Given the description of an element on the screen output the (x, y) to click on. 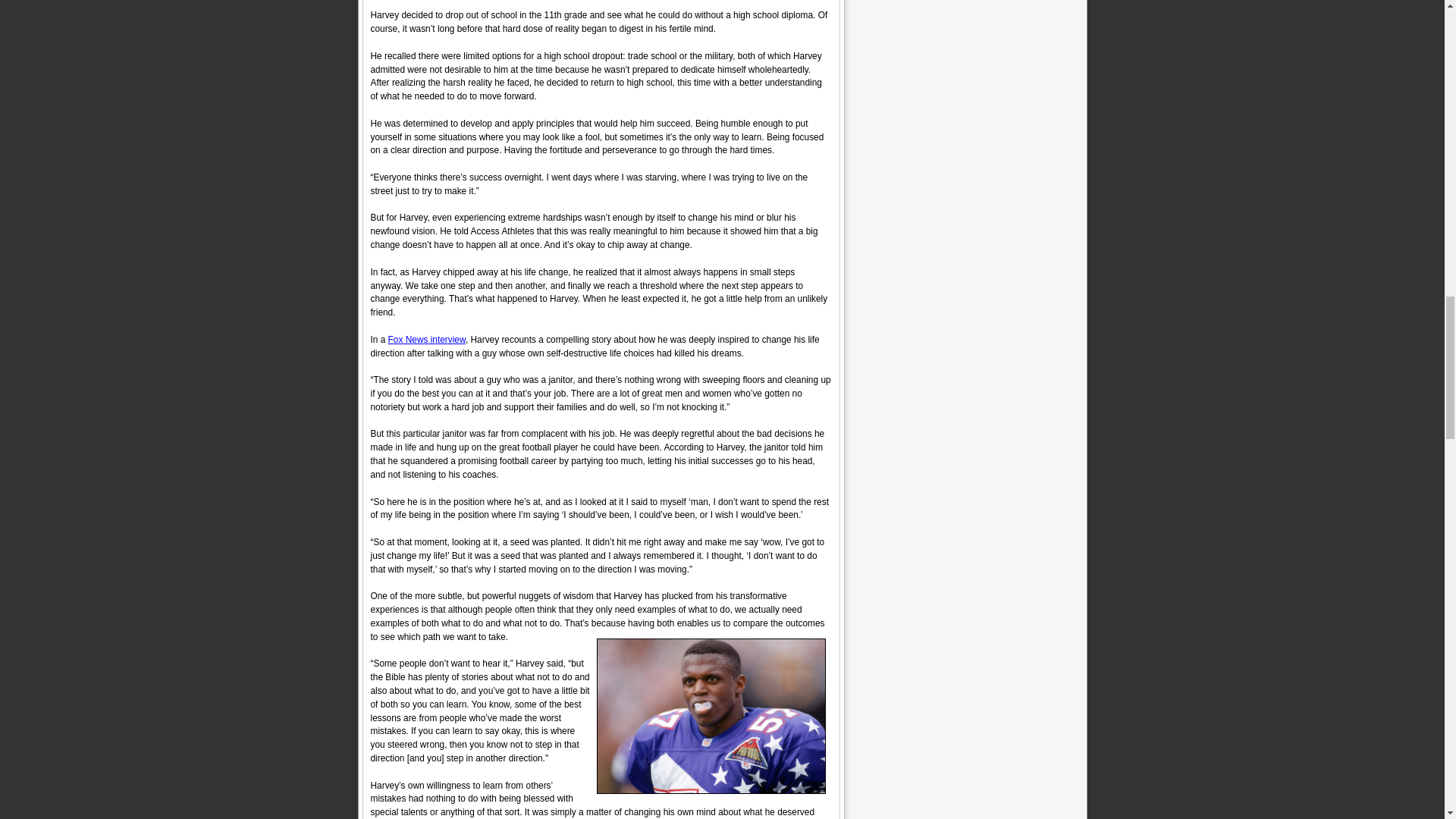
Fox News interview (426, 339)
